Given the description of an element on the screen output the (x, y) to click on. 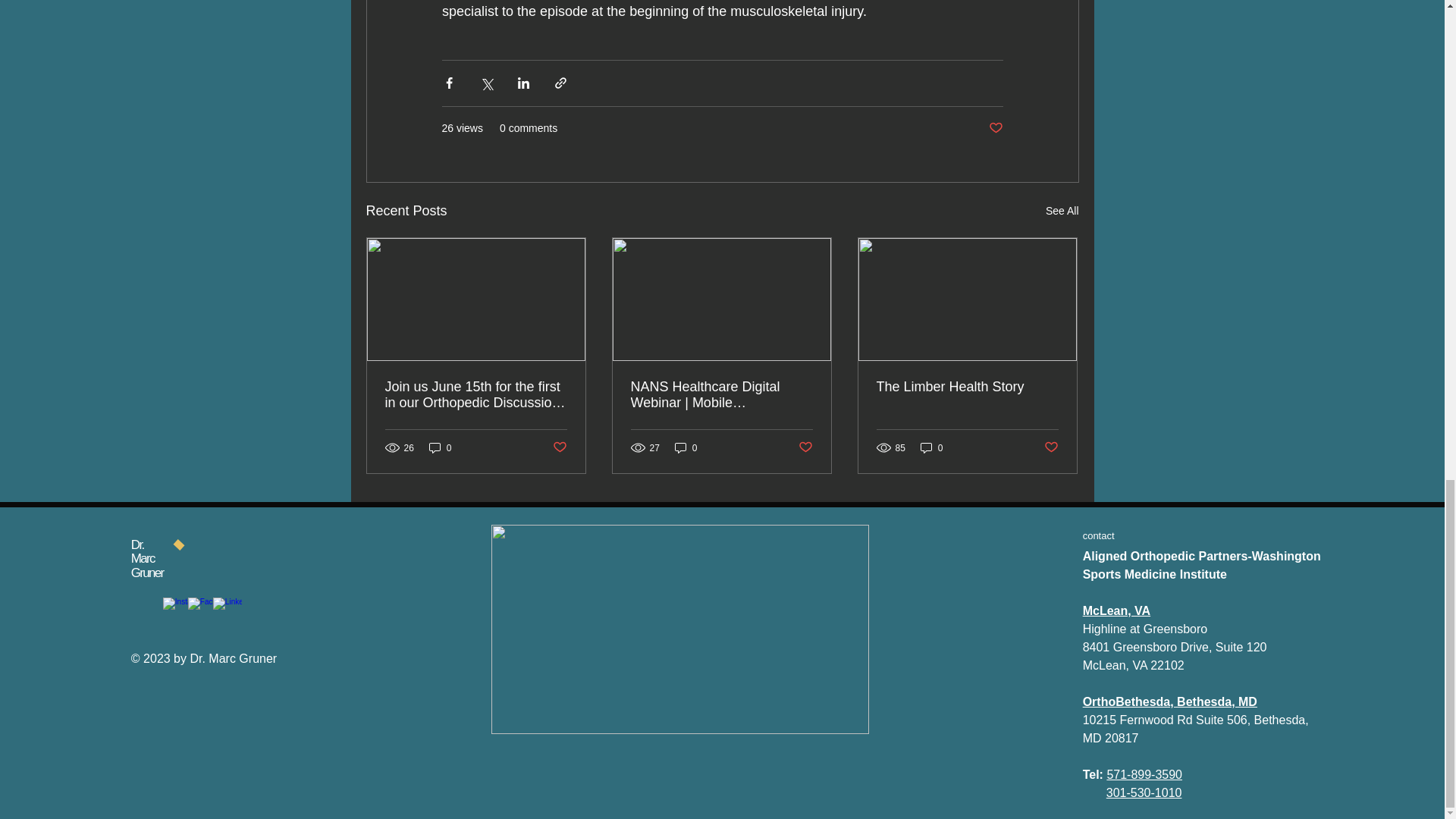
Post not marked as liked (558, 447)
0 (440, 447)
See All (1061, 210)
0 (685, 447)
Post not marked as liked (995, 128)
Post not marked as liked (804, 447)
The Limber Health Story (967, 386)
